Given the description of an element on the screen output the (x, y) to click on. 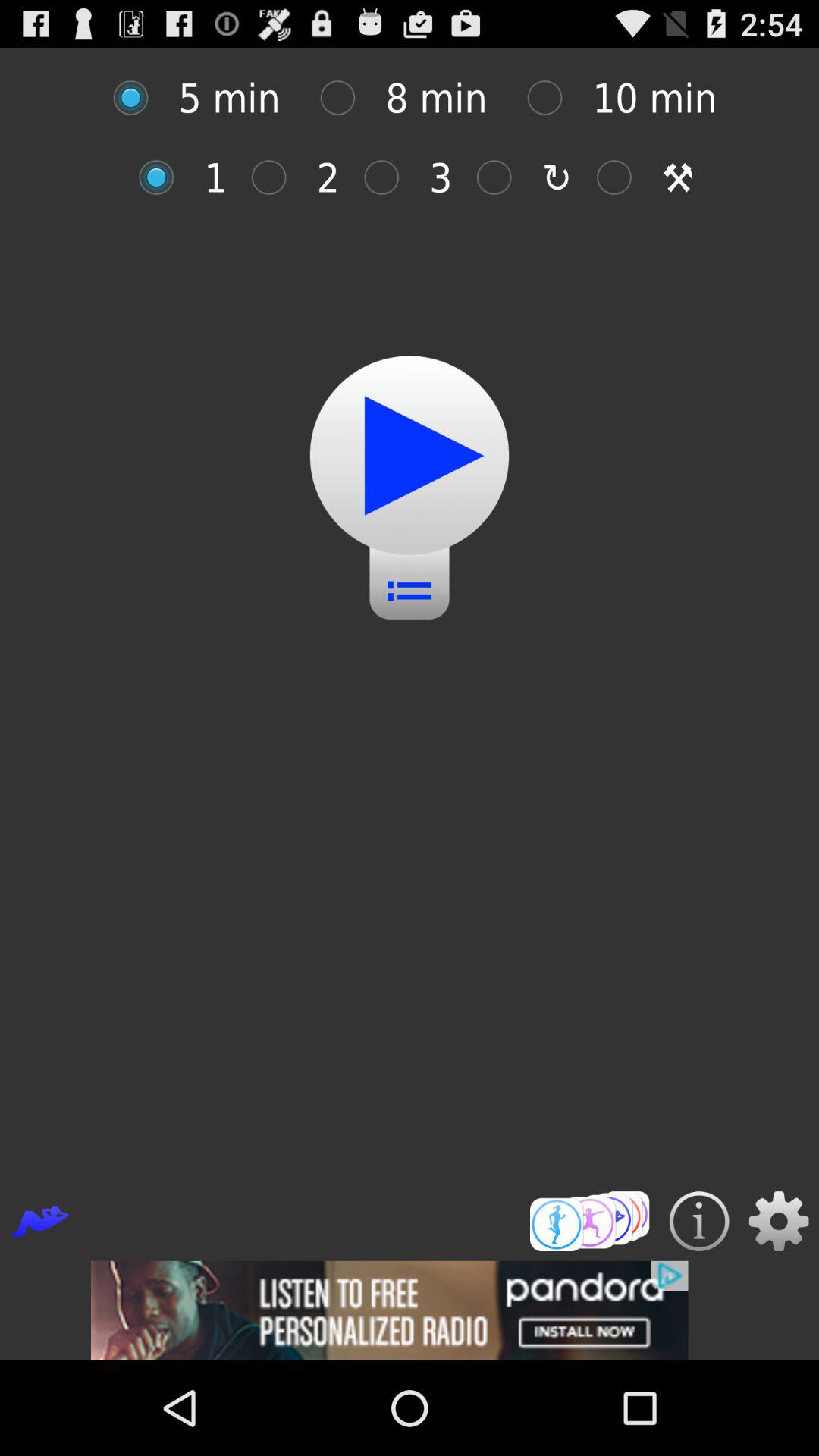
more information (699, 1221)
